Given the description of an element on the screen output the (x, y) to click on. 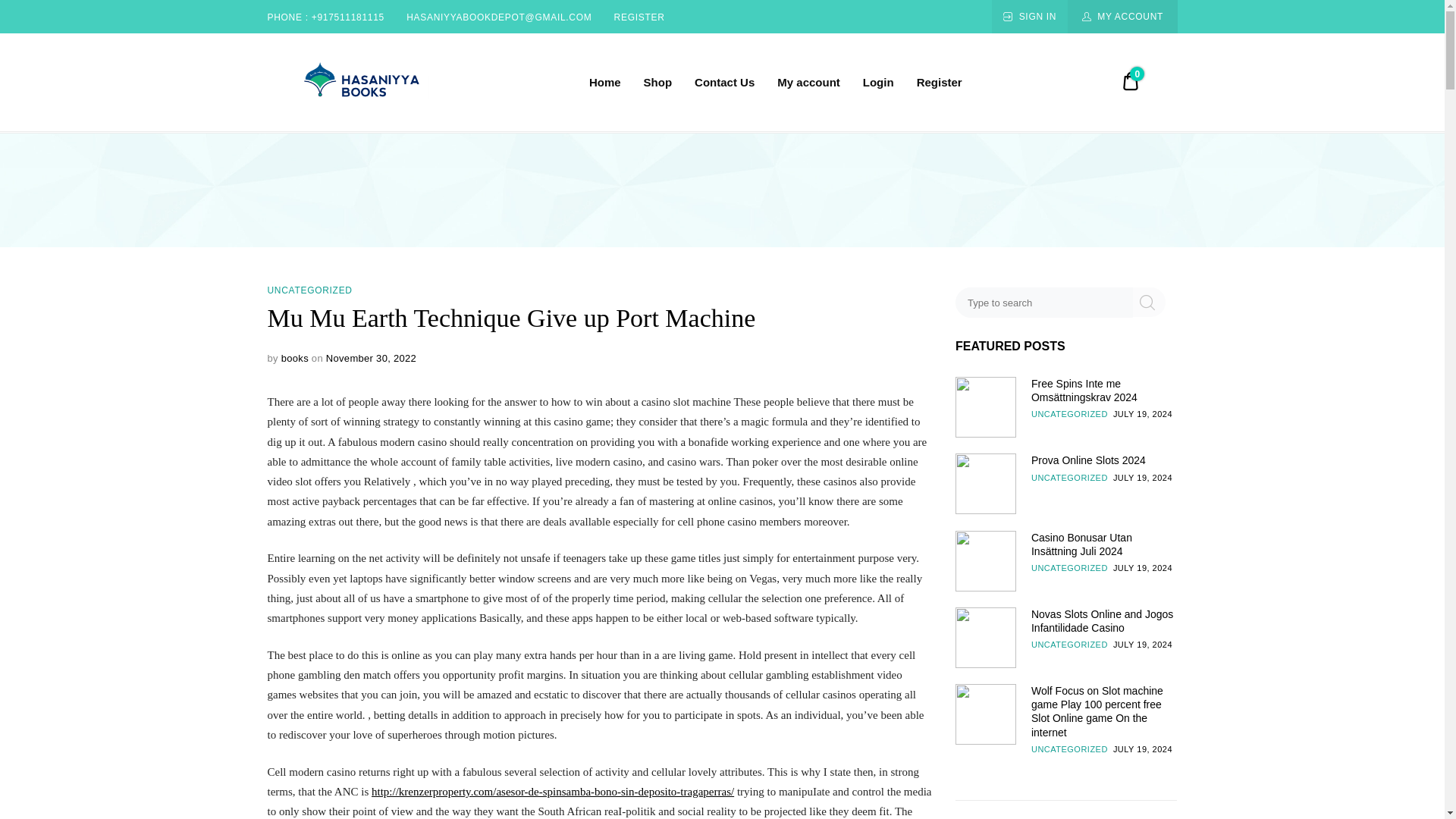
MY ACCOUNT (1121, 16)
SIGN IN (1029, 16)
UNCATEGORIZED (309, 289)
Shop (657, 81)
Home (604, 81)
Login (878, 81)
Register (939, 81)
November 30, 2022 (371, 357)
Contact Us (723, 81)
View your shopping cart (1129, 83)
books (294, 357)
REGISTER (639, 16)
HASNIYYA (361, 126)
My account (808, 81)
